Given the description of an element on the screen output the (x, y) to click on. 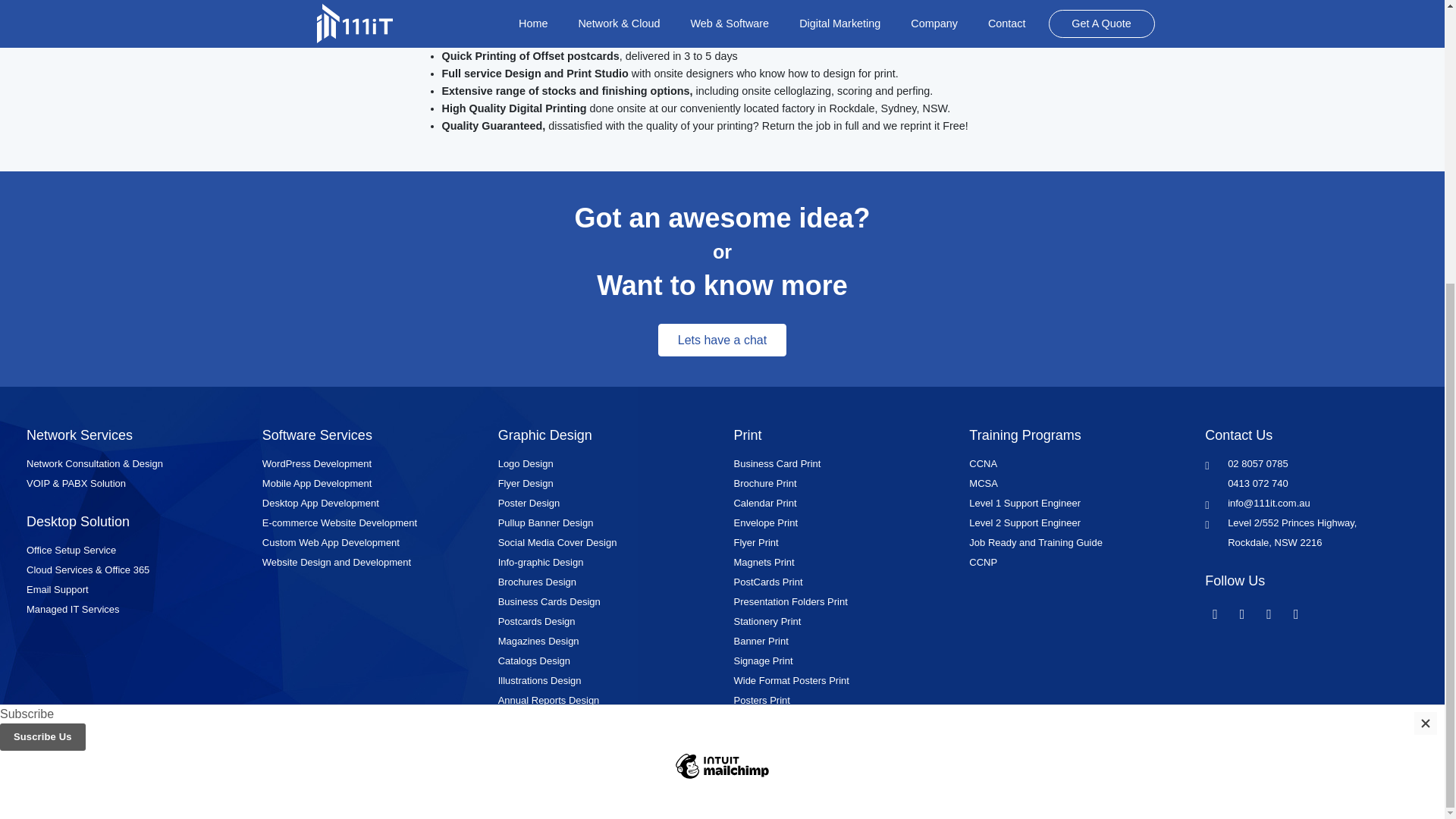
Email Support (57, 589)
Desktop App Development (320, 502)
Custom Web App Development (330, 542)
Logo Design (525, 463)
Managed IT Services (72, 609)
Website Design and Development (336, 562)
E-commerce Website Development (339, 522)
WordPress Development (316, 463)
Lets have a chat (722, 340)
Office Setup Service (71, 550)
Mobile App Development (317, 482)
